Given the description of an element on the screen output the (x, y) to click on. 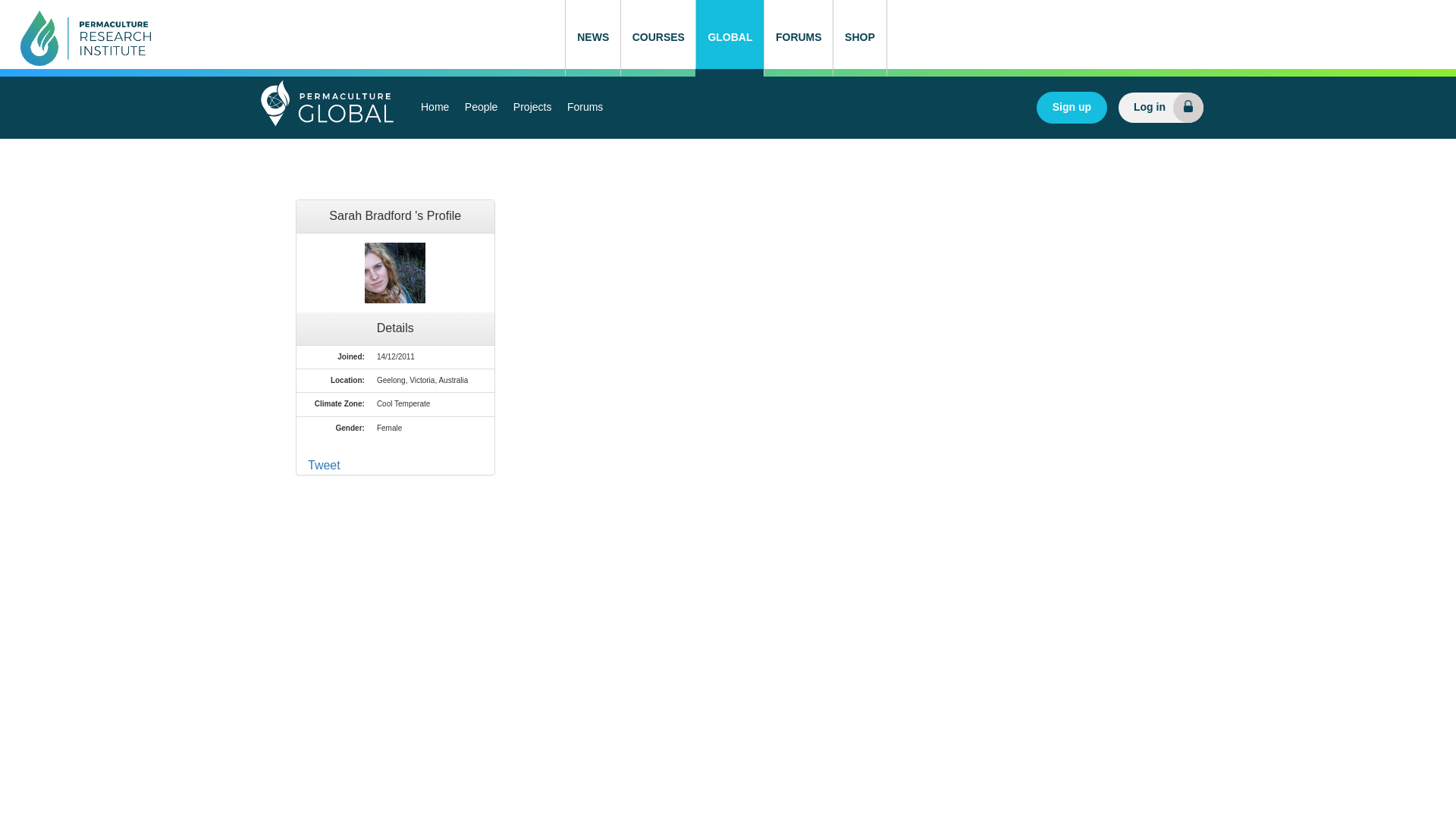
Projects (531, 107)
COURSES (657, 38)
Forums (584, 107)
Tweet (323, 464)
Sarah Bradford (395, 272)
Home (434, 107)
GLOBAL (728, 38)
FORUMS (797, 38)
Sign up (1071, 107)
People (480, 107)
